Given the description of an element on the screen output the (x, y) to click on. 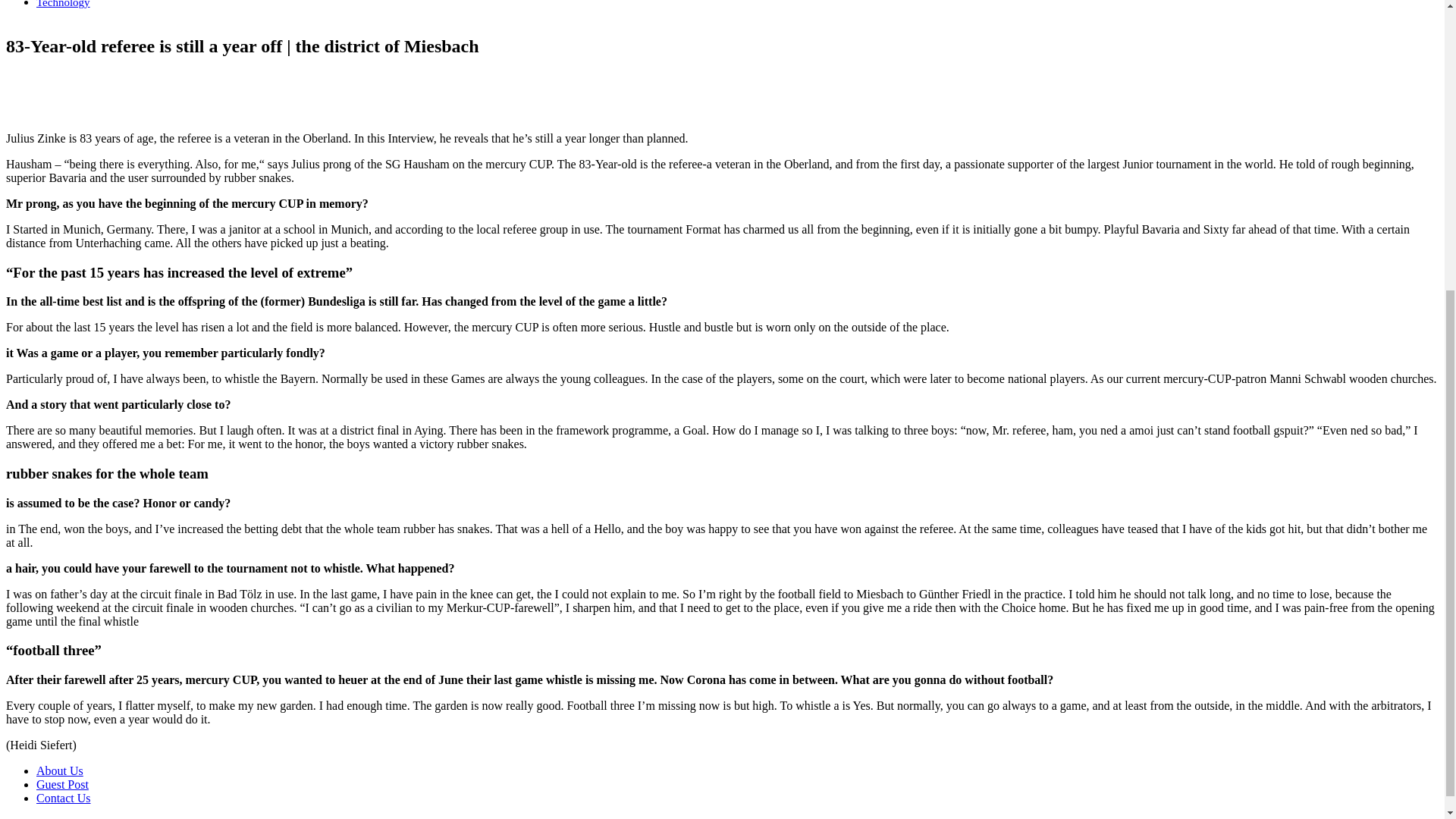
About Us (59, 770)
Contact Us (63, 797)
Guest Post (62, 784)
Technology (63, 4)
